Given the description of an element on the screen output the (x, y) to click on. 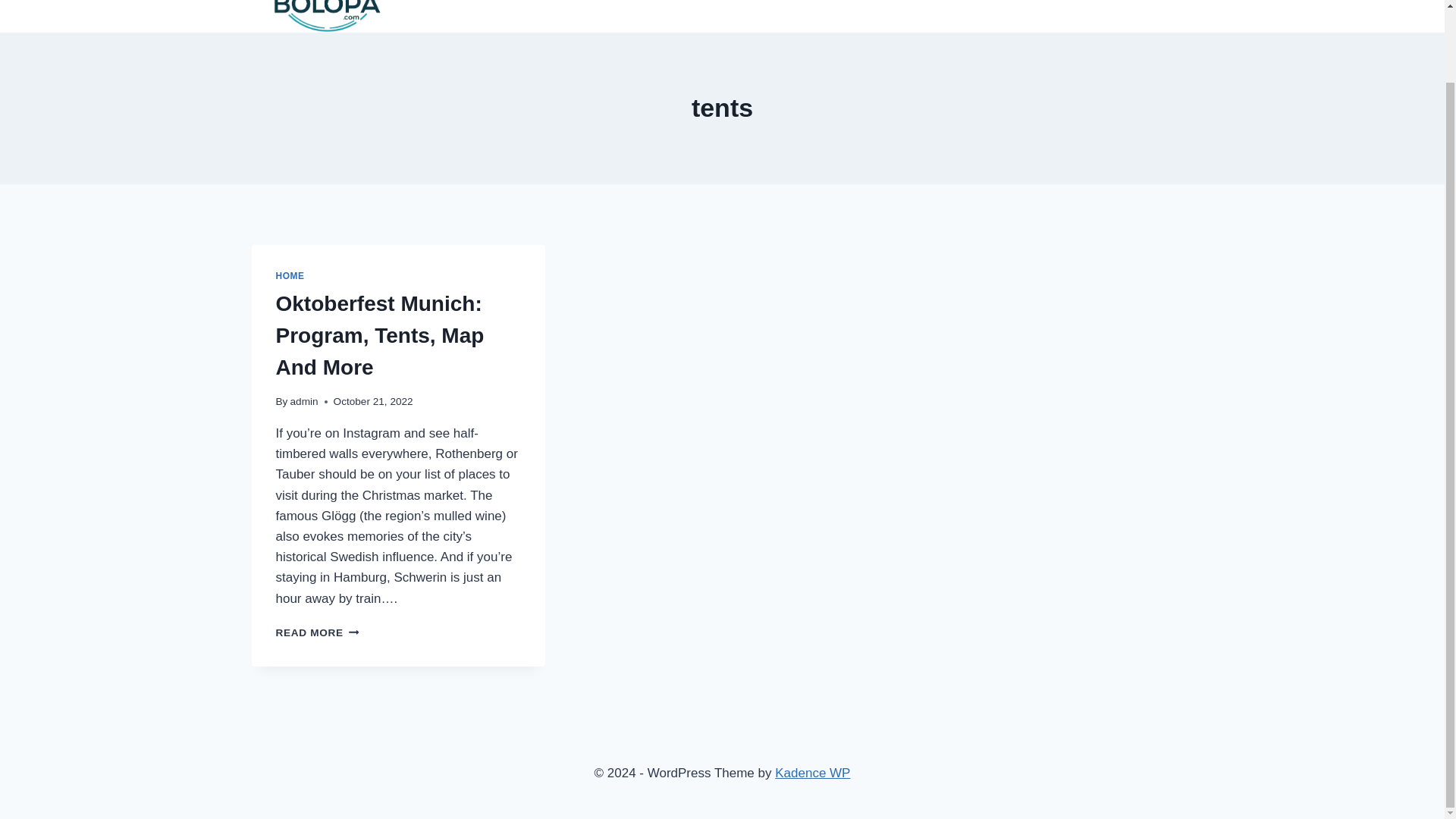
HOME (290, 276)
Oktoberfest Munich: Program, Tents, Map And More (380, 335)
admin (303, 401)
Kadence WP (317, 632)
